Given the description of an element on the screen output the (x, y) to click on. 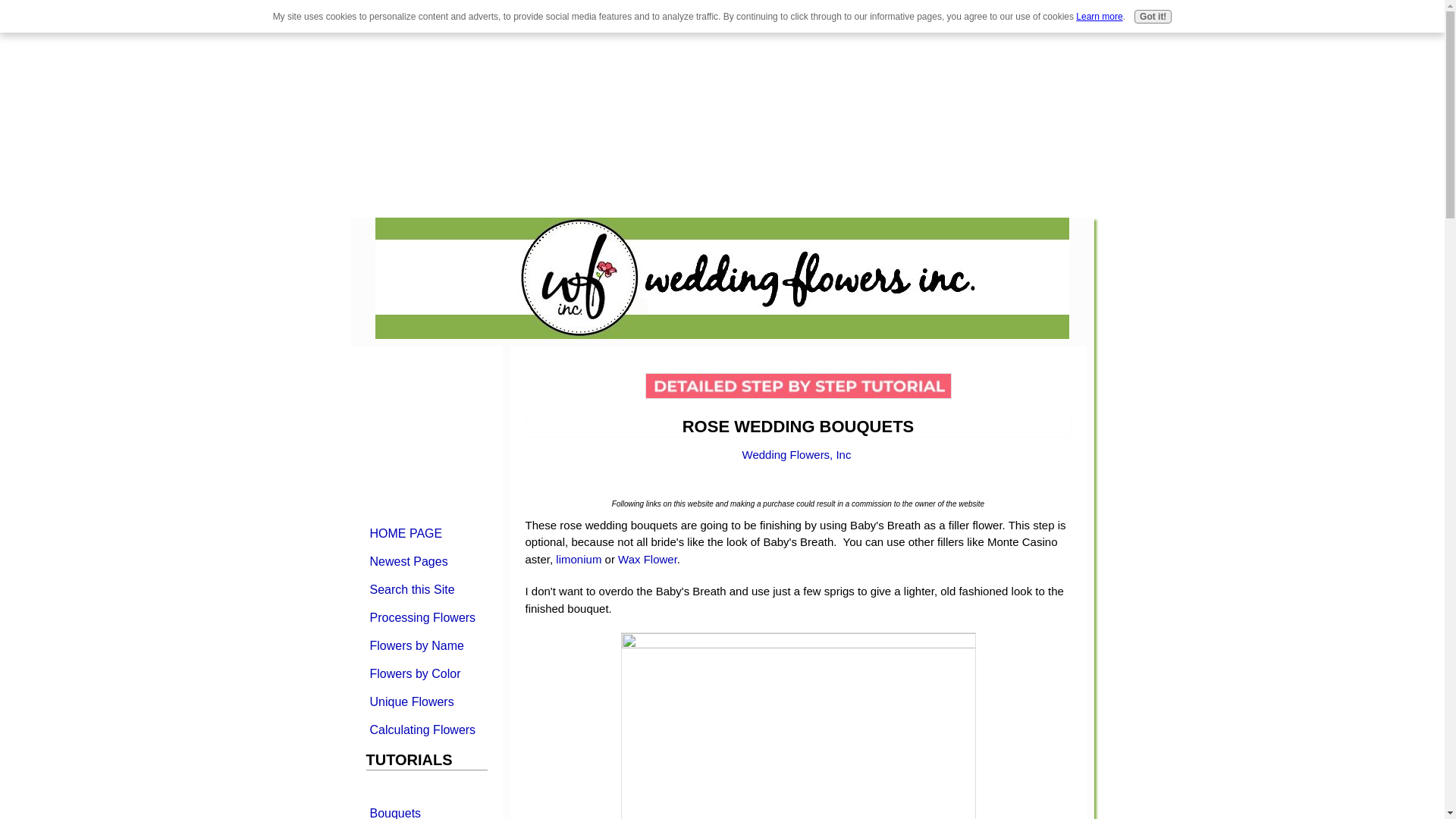
Search this Site (425, 588)
Flowers by Color (425, 673)
Processing Flowers (425, 617)
limonium (580, 558)
Wedding Flowers, Inc (796, 454)
HOME PAGE (425, 533)
Unique Flowers (425, 701)
Bouquets (425, 809)
Newest Pages (425, 561)
Wax Flower (647, 558)
Flowers by Name (425, 645)
Calculating Flowers (425, 729)
